Given the description of an element on the screen output the (x, y) to click on. 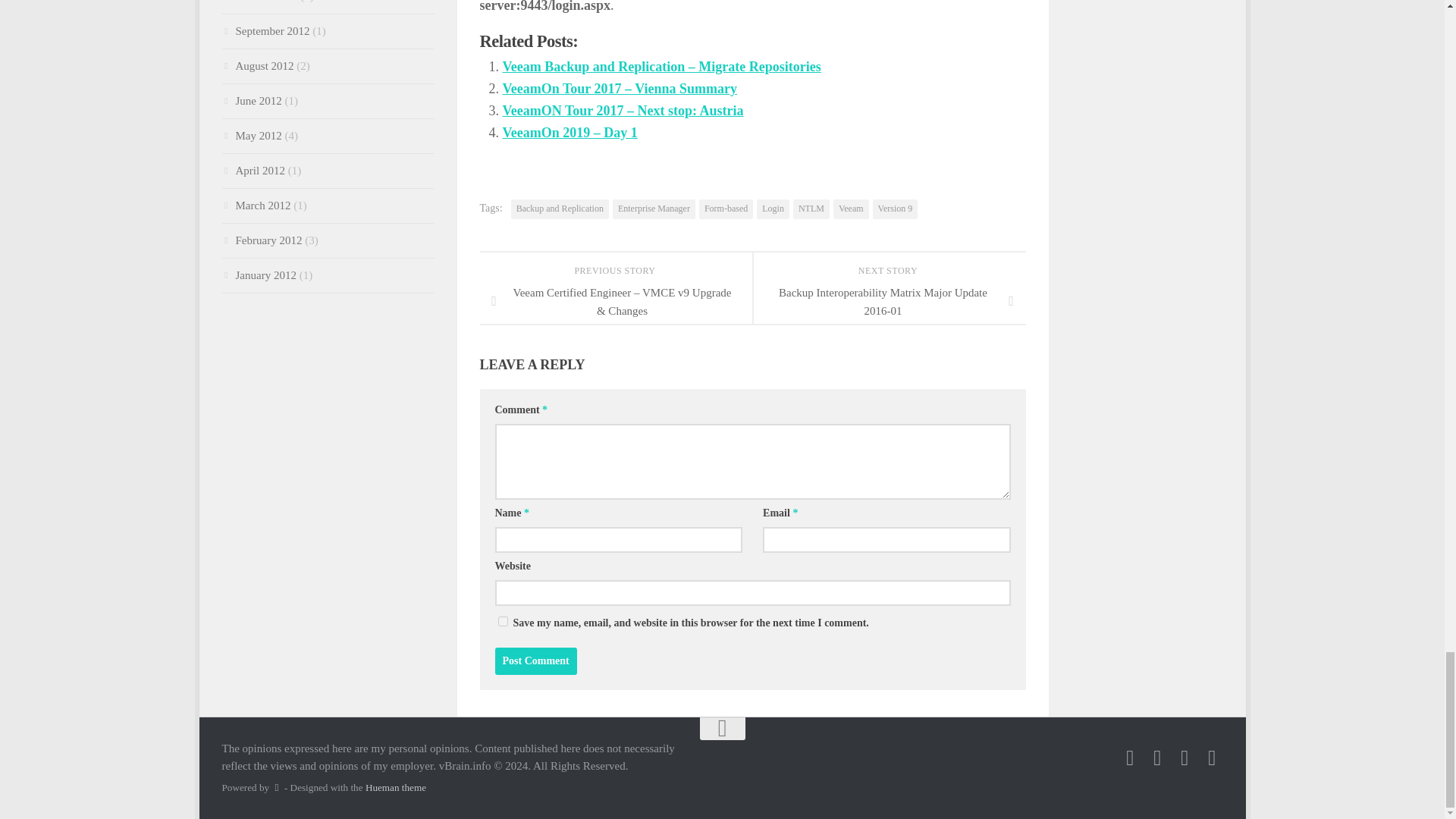
Post Comment (535, 660)
yes (501, 621)
